Given the description of an element on the screen output the (x, y) to click on. 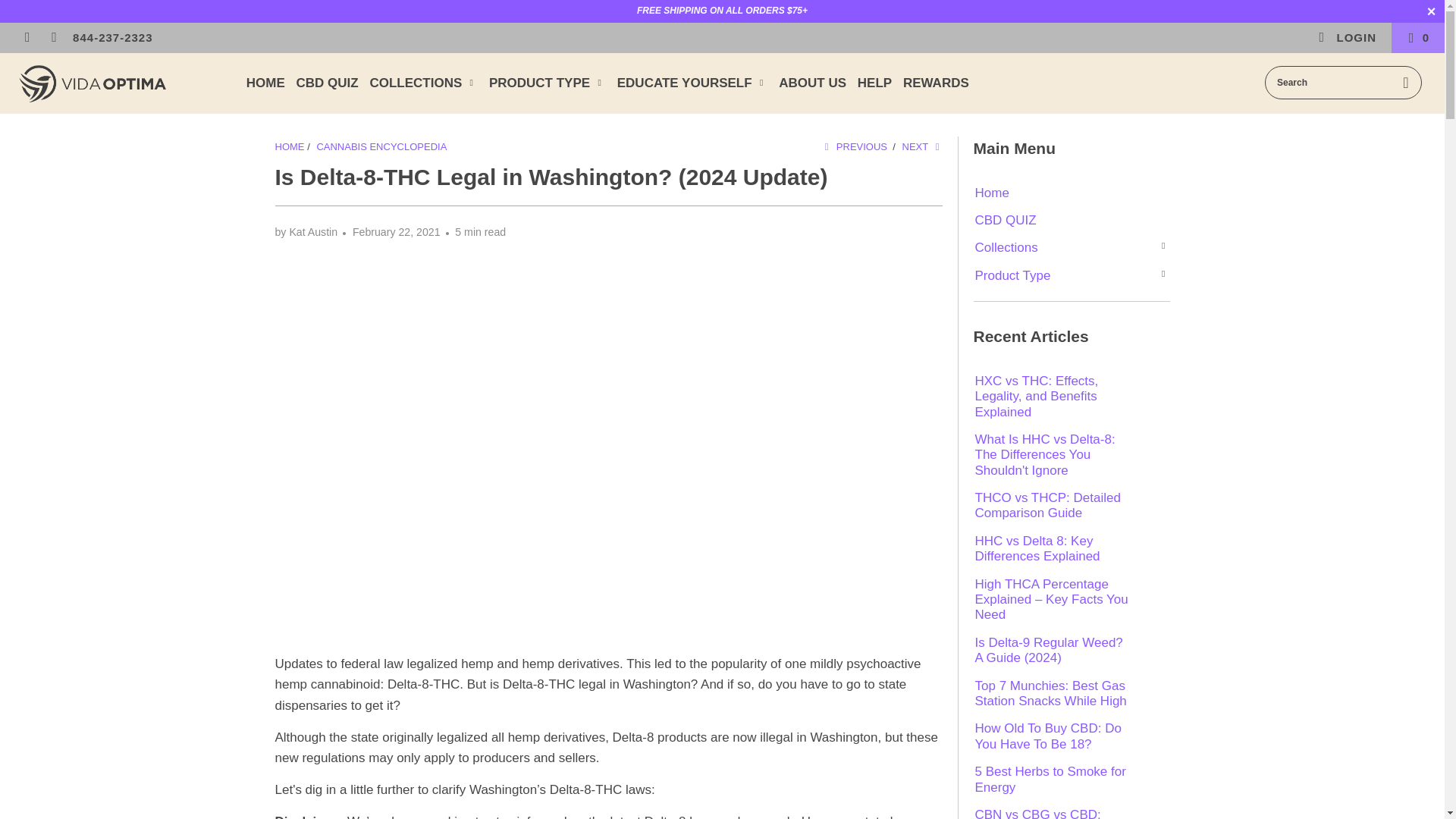
844-237-2323 (112, 37)
My Account  (1346, 37)
Cannabis Encyclopedia (380, 146)
